Given the description of an element on the screen output the (x, y) to click on. 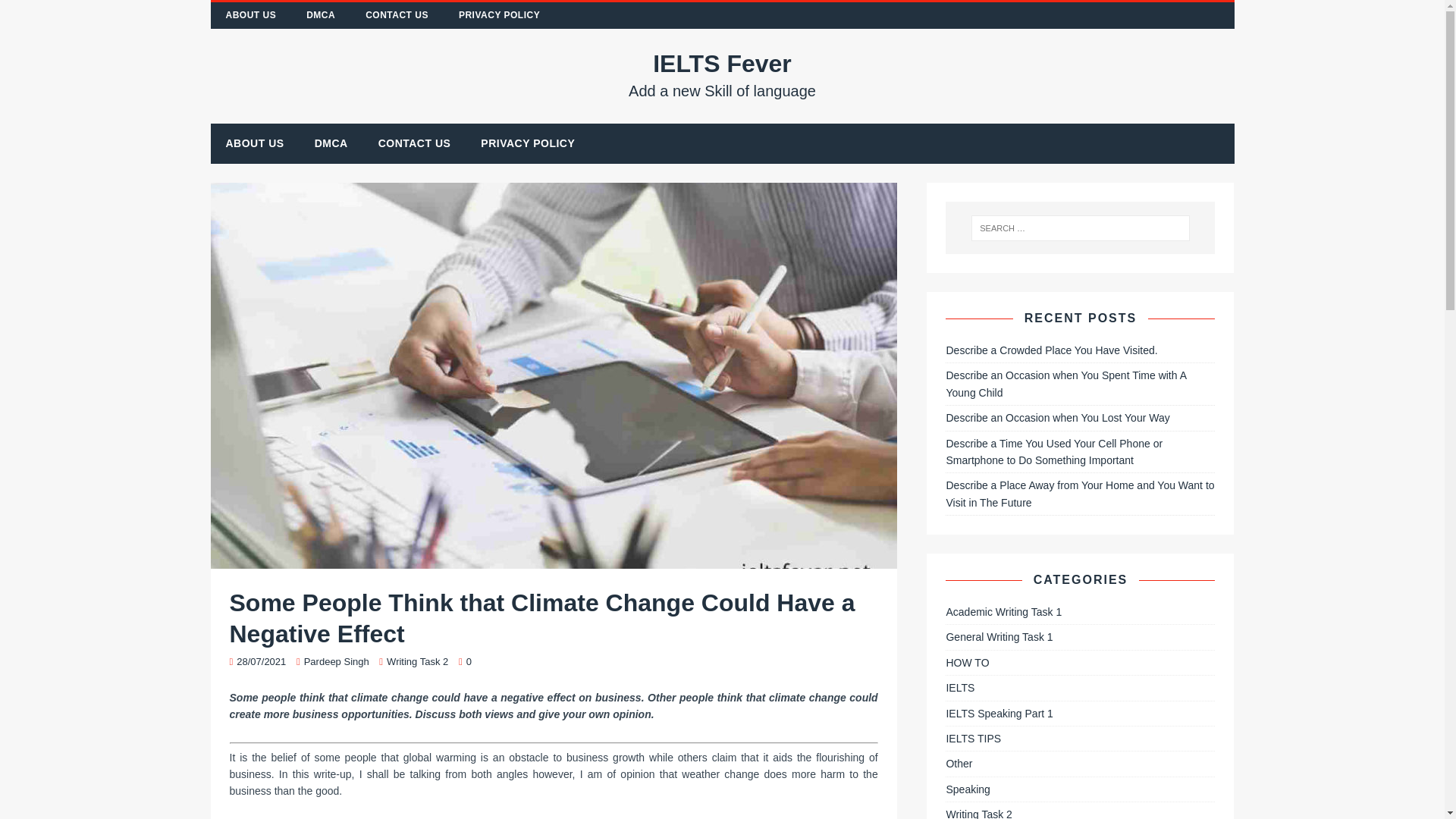
Writing Task 2 (417, 661)
PRIVACY POLICY (527, 142)
IELTS Fever (722, 74)
Describe an Occasion when You Lost Your Way (1056, 417)
ABOUT US (255, 142)
Pardeep Singh (336, 661)
DMCA (320, 15)
Describe a Crowded Place You Have Visited. (1050, 349)
Describe an Occasion when You Spent Time with A Young Child (1065, 383)
PRIVACY POLICY (499, 15)
Search (37, 13)
CONTACT US (397, 15)
ABOUT US (251, 15)
